Given the description of an element on the screen output the (x, y) to click on. 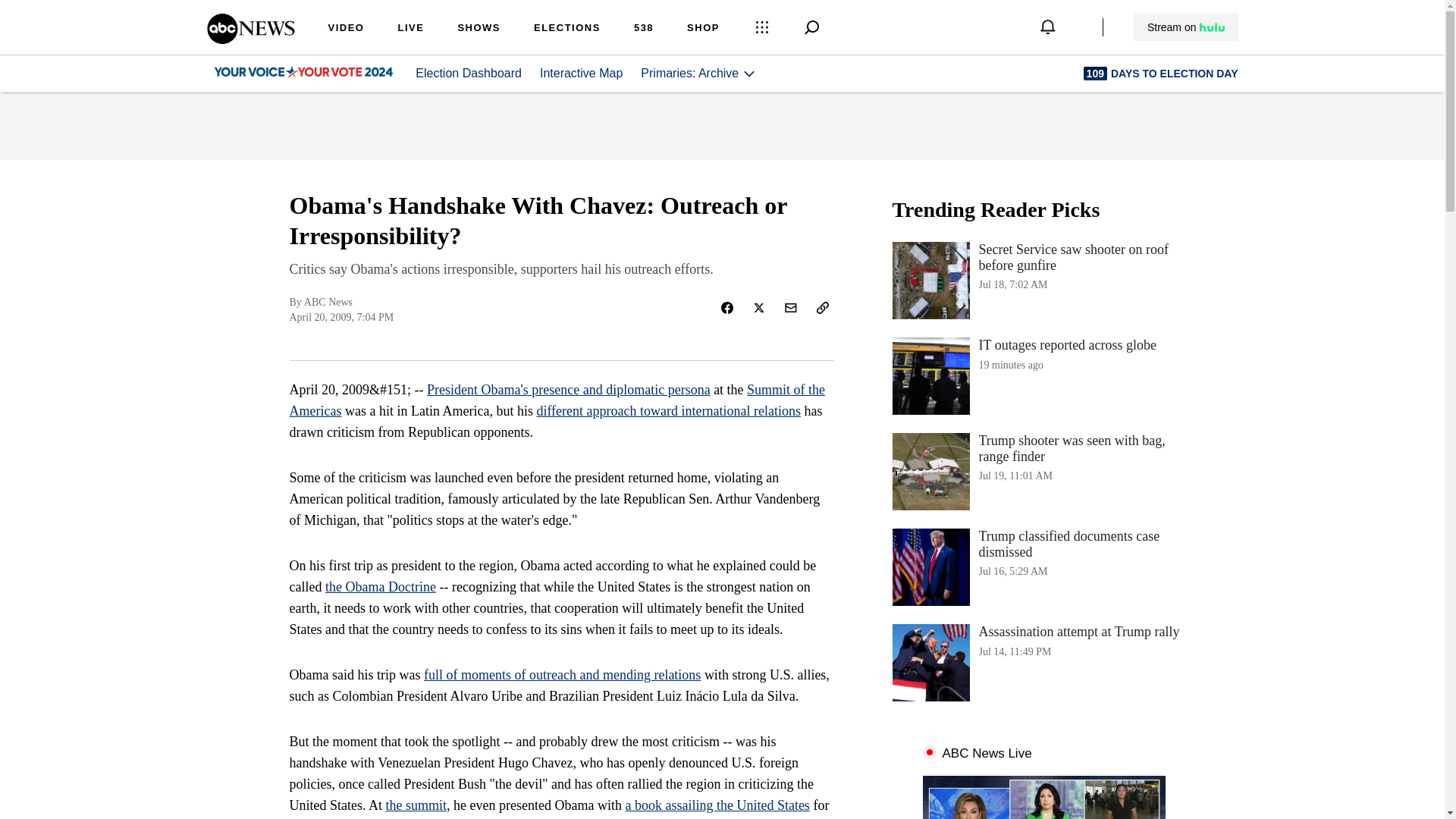
VIDEO (345, 28)
different approach toward international relations (1043, 567)
Stream on (667, 410)
Summit of the Americas (1186, 26)
Interactive Map (557, 400)
Election Dashboard (581, 73)
538 (467, 73)
Primaries: Archive (1043, 375)
SHOWS (643, 28)
LIVE (1043, 662)
